Given the description of an element on the screen output the (x, y) to click on. 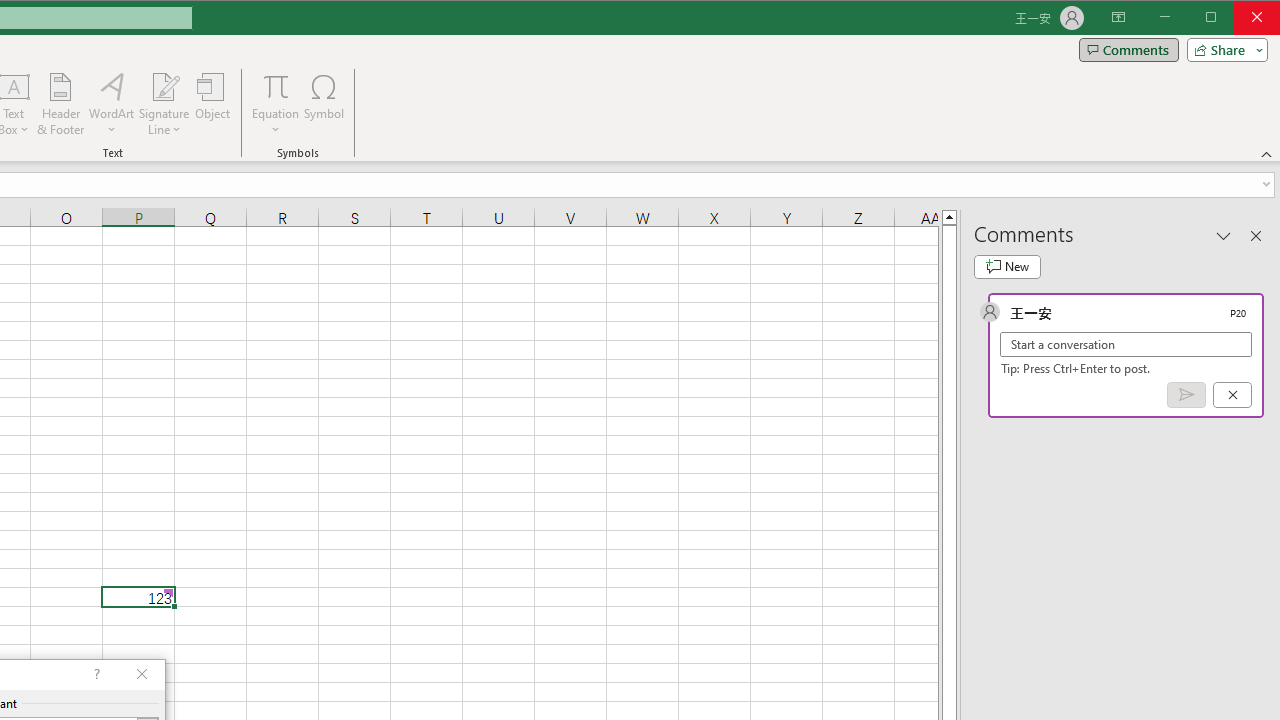
Symbol... (324, 104)
Signature Line (164, 86)
New comment (1007, 266)
Line up (948, 216)
Comments (1128, 49)
Start a conversation (1126, 344)
Cancel (1232, 395)
WordArt (111, 104)
Header & Footer... (60, 104)
